Given the description of an element on the screen output the (x, y) to click on. 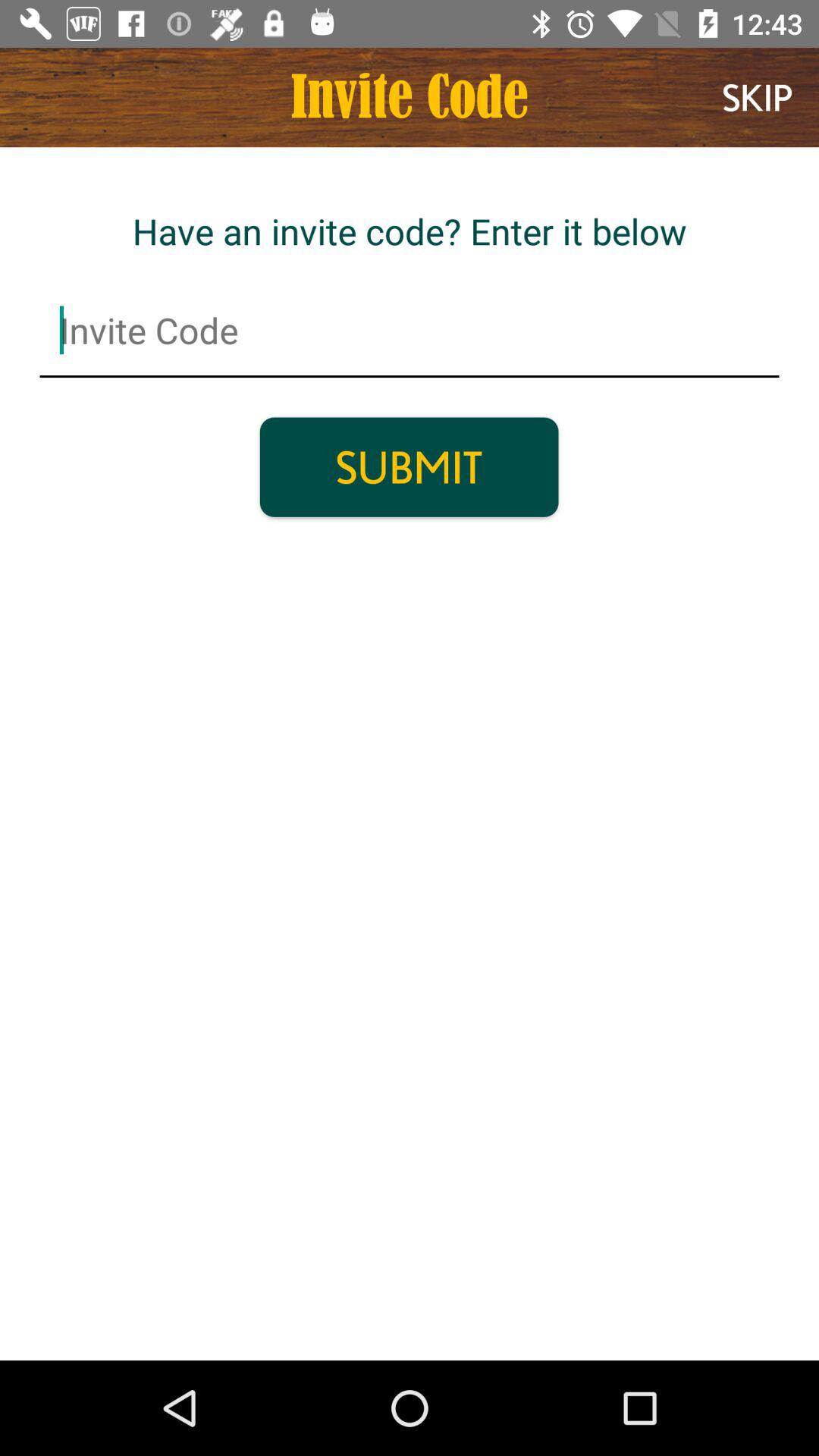
open item next to the invite code item (757, 97)
